Given the description of an element on the screen output the (x, y) to click on. 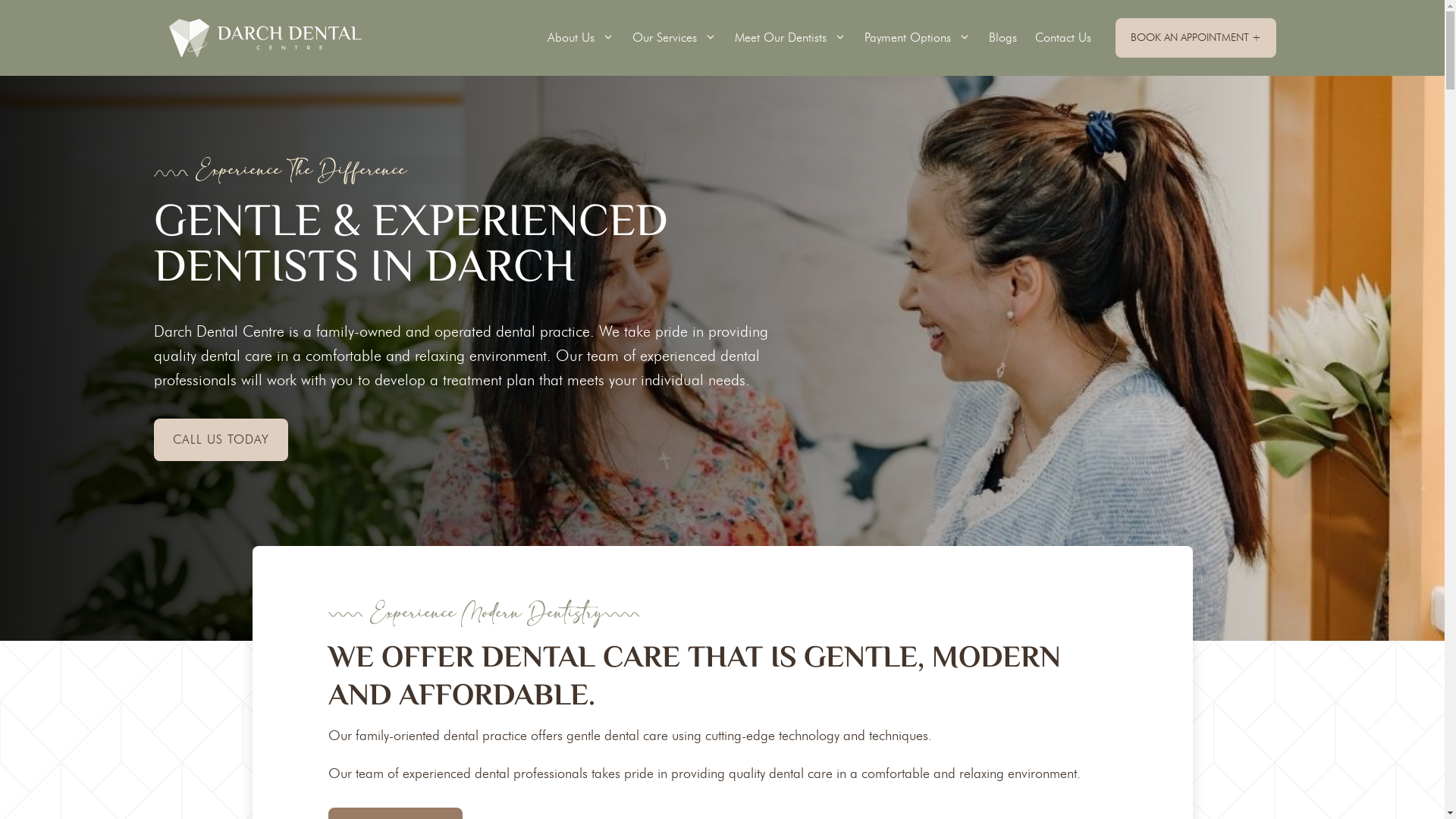
BOOK AN APPOINTMENT + Element type: text (1194, 37)
Contact Us Element type: text (1062, 37)
Payment Options Element type: text (917, 37)
CALL US TODAY Element type: text (220, 439)
Our Services Element type: text (674, 37)
Meet Our Dentists Element type: text (789, 37)
Blogs Element type: text (1002, 37)
About Us Element type: text (580, 37)
